Given the description of an element on the screen output the (x, y) to click on. 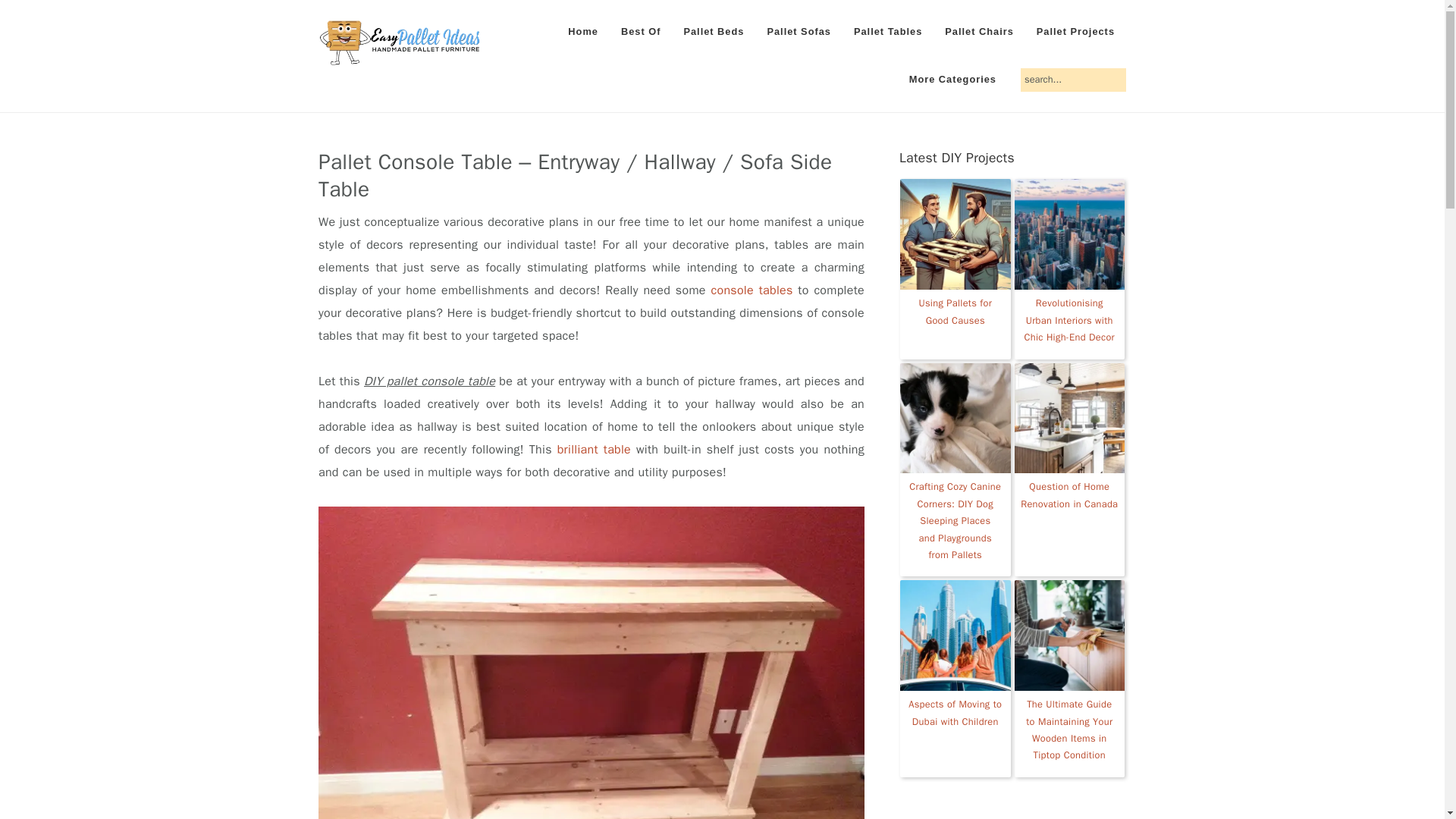
More Categories (952, 80)
Search (1128, 71)
Easy Pallet Ideas (399, 42)
Pallet Sofas (799, 32)
Pallet Tables (888, 32)
Search (1128, 71)
Easy Pallet Ideas (399, 57)
Pallet Projects (1075, 32)
Home (583, 32)
